Given the description of an element on the screen output the (x, y) to click on. 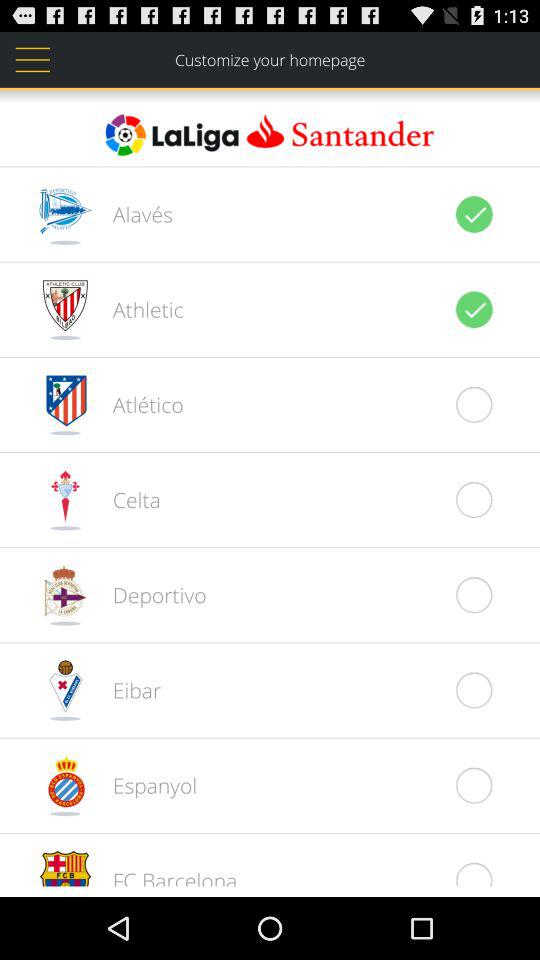
turn off fc barcelona (164, 876)
